Given the description of an element on the screen output the (x, y) to click on. 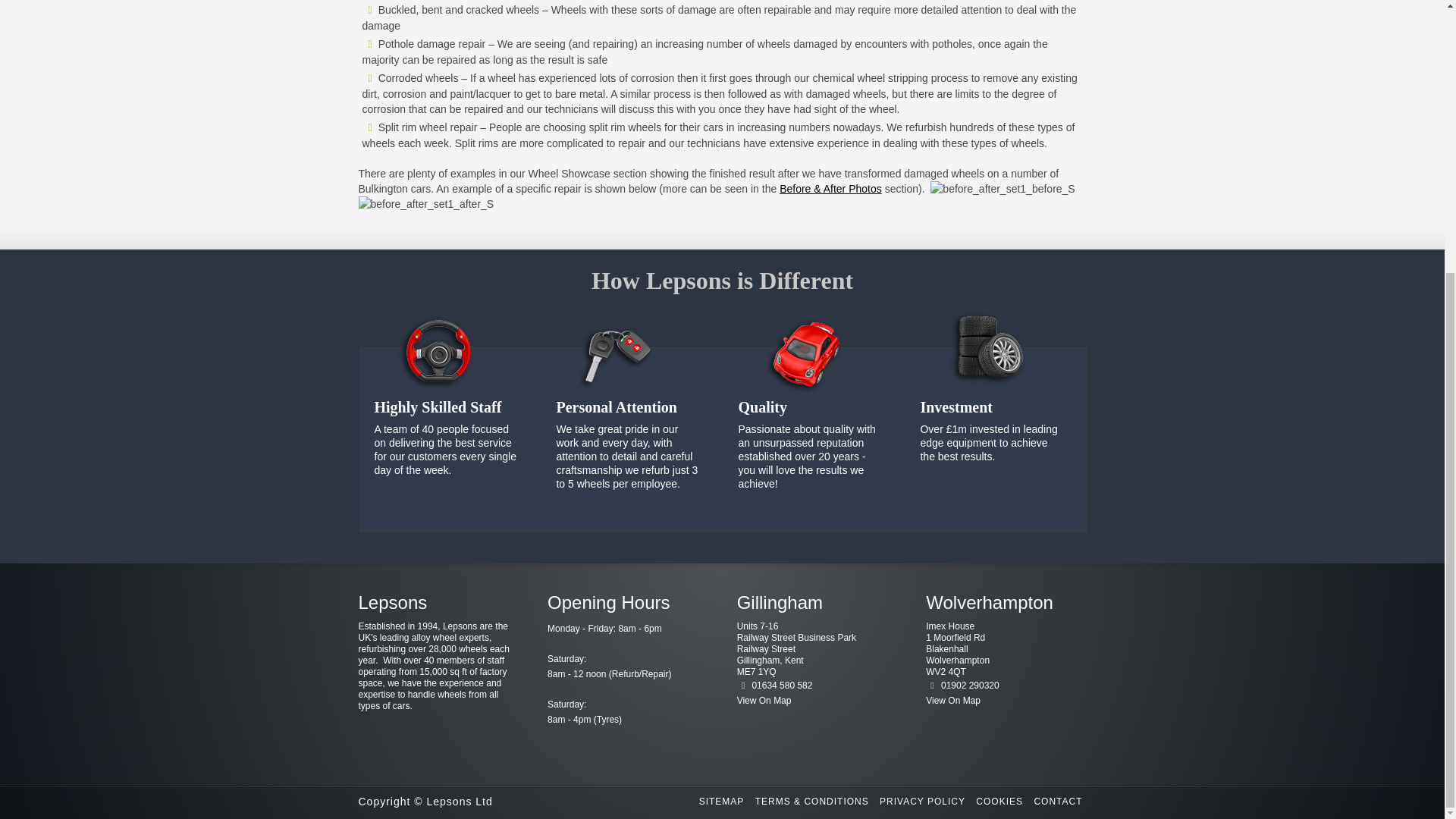
Before and After Photos (830, 188)
